Given the description of an element on the screen output the (x, y) to click on. 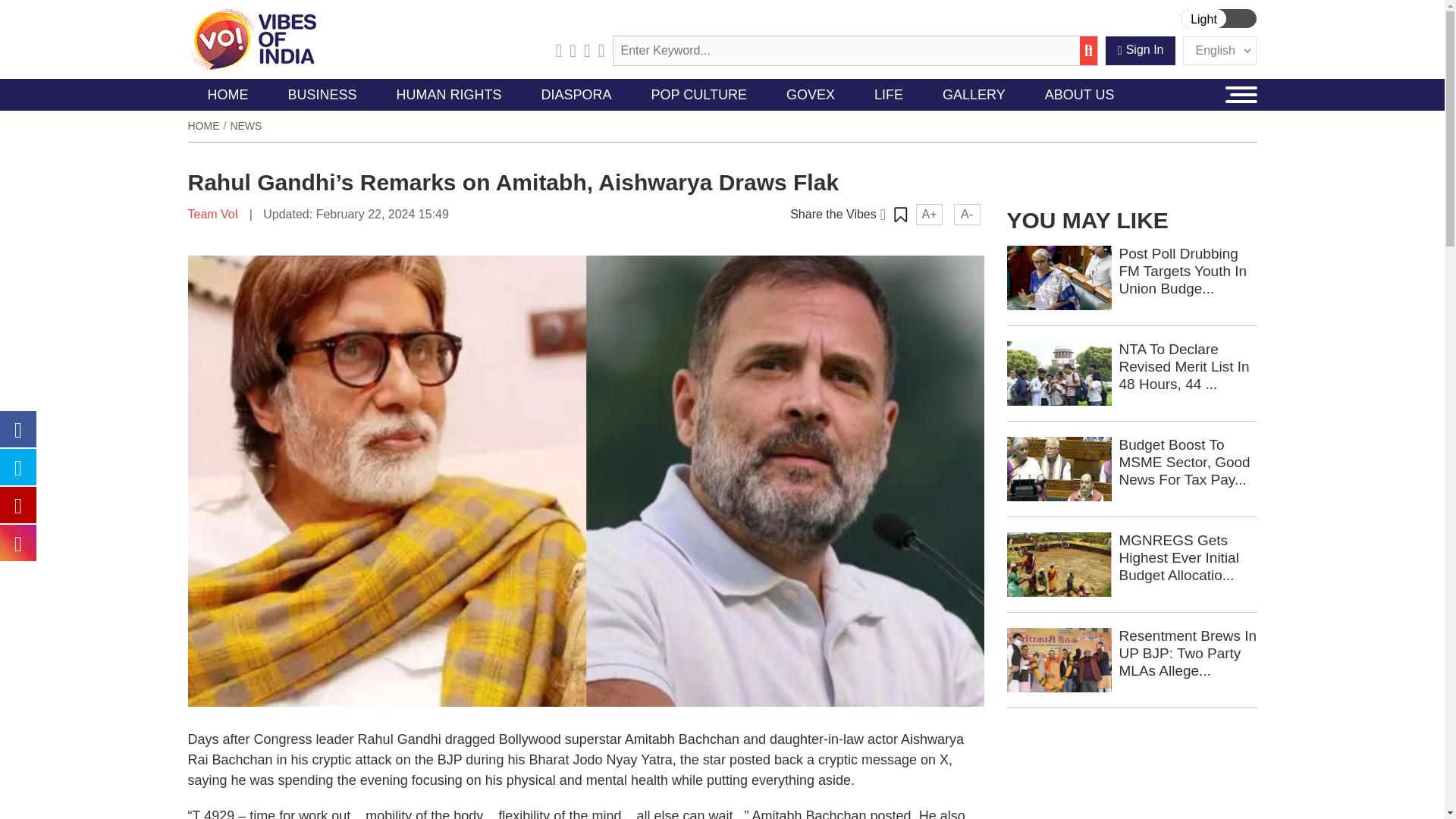
GALLERY (974, 94)
ABOUT US (1079, 94)
LIFE (888, 94)
Sign In (1140, 50)
Vibes of India (251, 38)
GOVEX (810, 94)
DIASPORA (576, 94)
Home (203, 125)
BUSINESS (322, 94)
Vibes of India (251, 39)
POP CULTURE (699, 94)
HOME (227, 94)
HUMAN RIGHTS (449, 94)
